Given the description of an element on the screen output the (x, y) to click on. 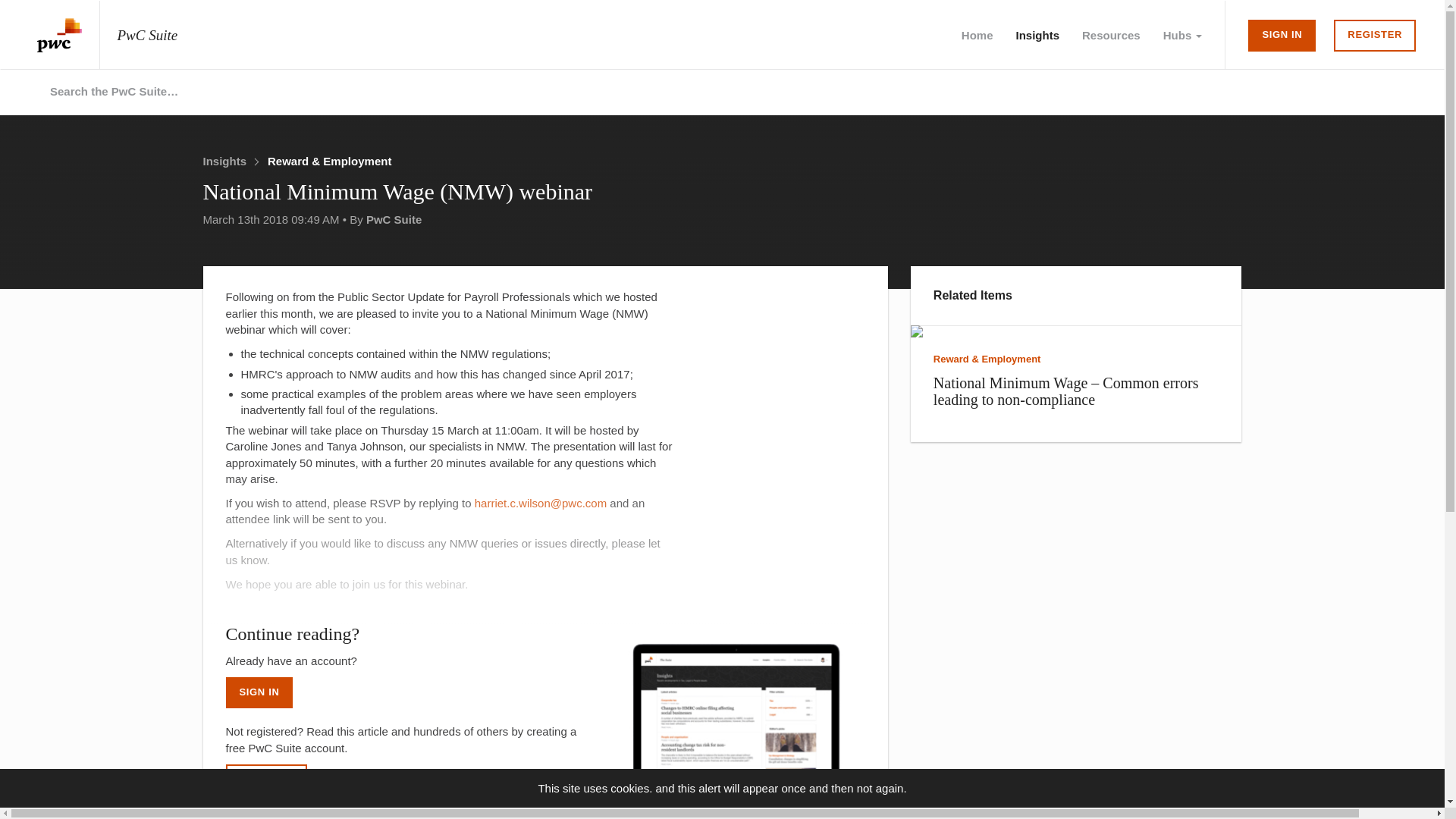
PwC Suite (98, 34)
SIGN IN (259, 693)
Hubs (1182, 34)
SIGN IN (1281, 35)
REGISTER (1374, 35)
PwC Suite (394, 219)
REGISTER (266, 780)
Insights (225, 160)
Insights (1037, 34)
Resources (1110, 34)
